Given the description of an element on the screen output the (x, y) to click on. 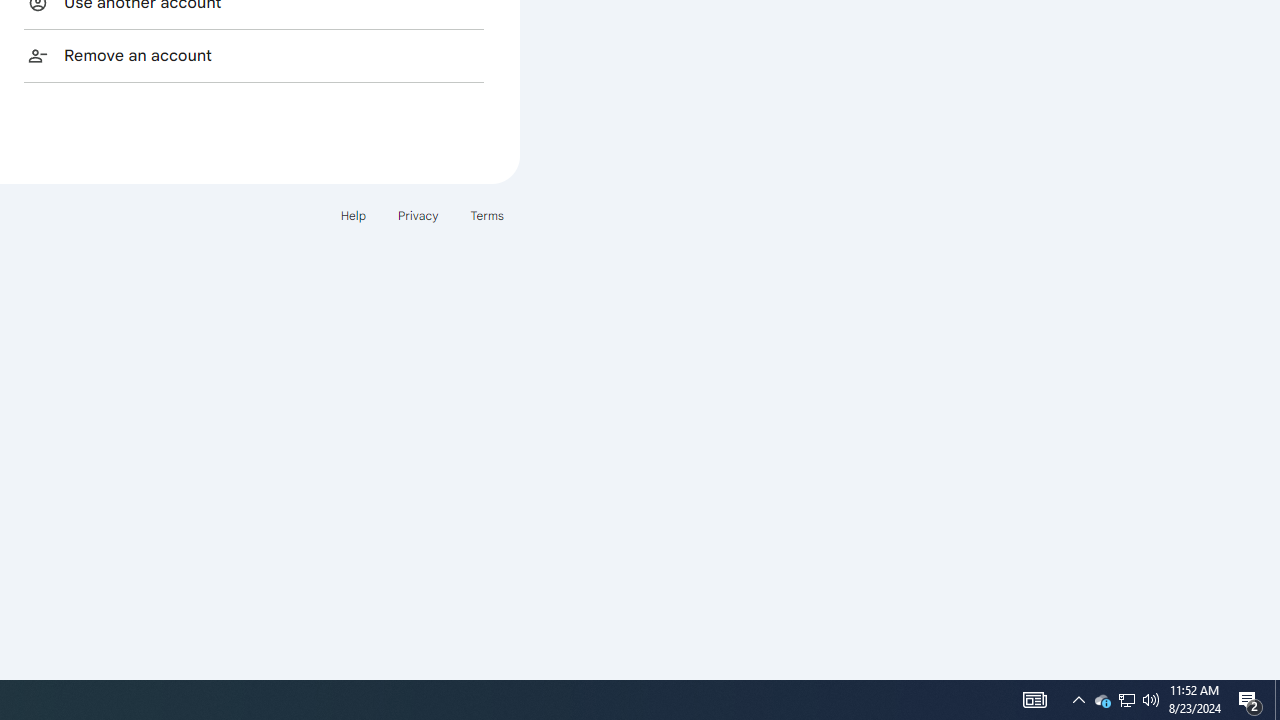
Remove an account (253, 55)
Help (352, 214)
Terms (486, 214)
Privacy (417, 214)
